Given the description of an element on the screen output the (x, y) to click on. 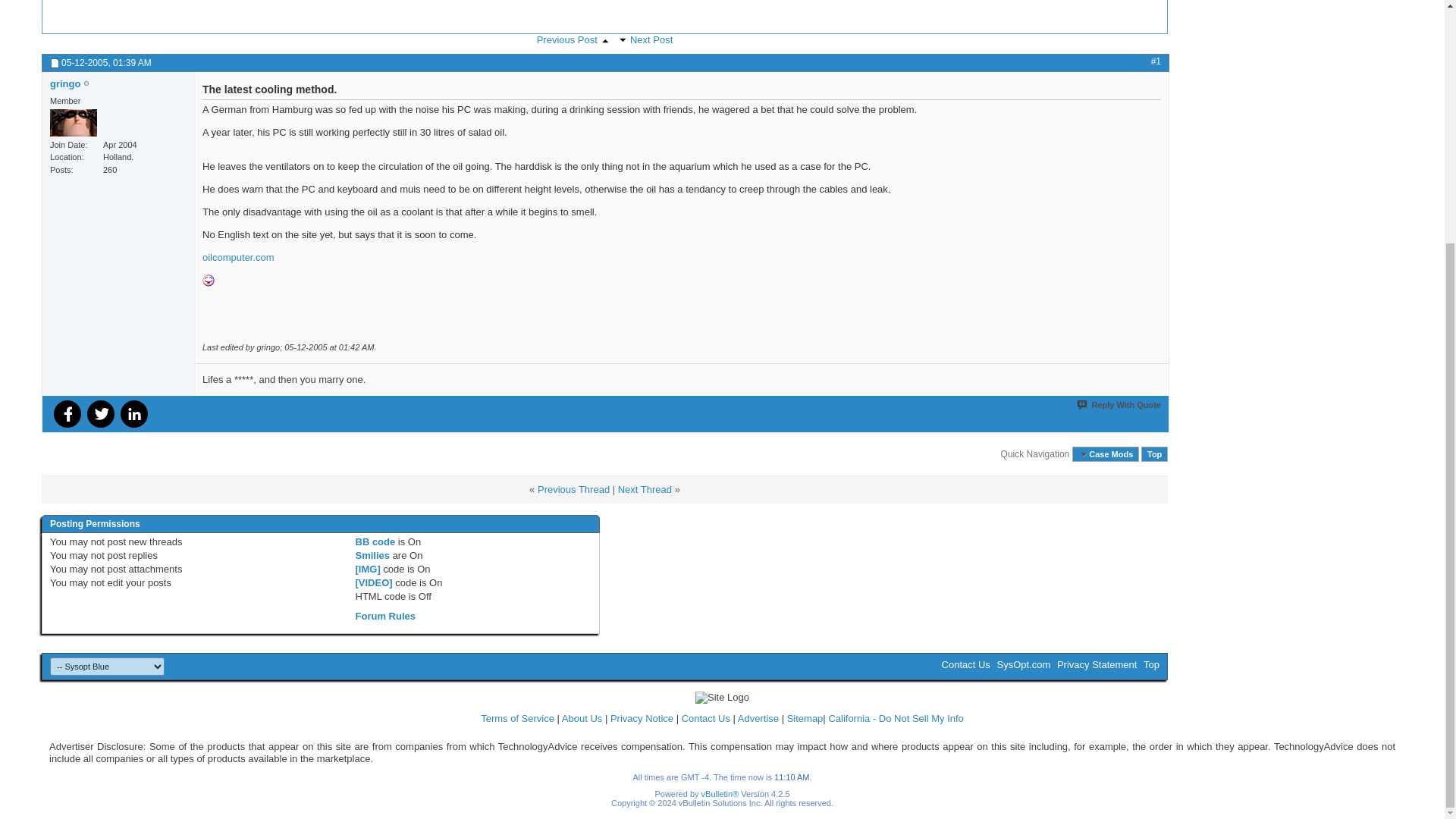
gringo is offline (64, 83)
Stick Out Tongue (208, 280)
gringo is offline (73, 122)
Reply With Quote (1117, 404)
Next Post (622, 40)
Previous Post (604, 40)
